Given the description of an element on the screen output the (x, y) to click on. 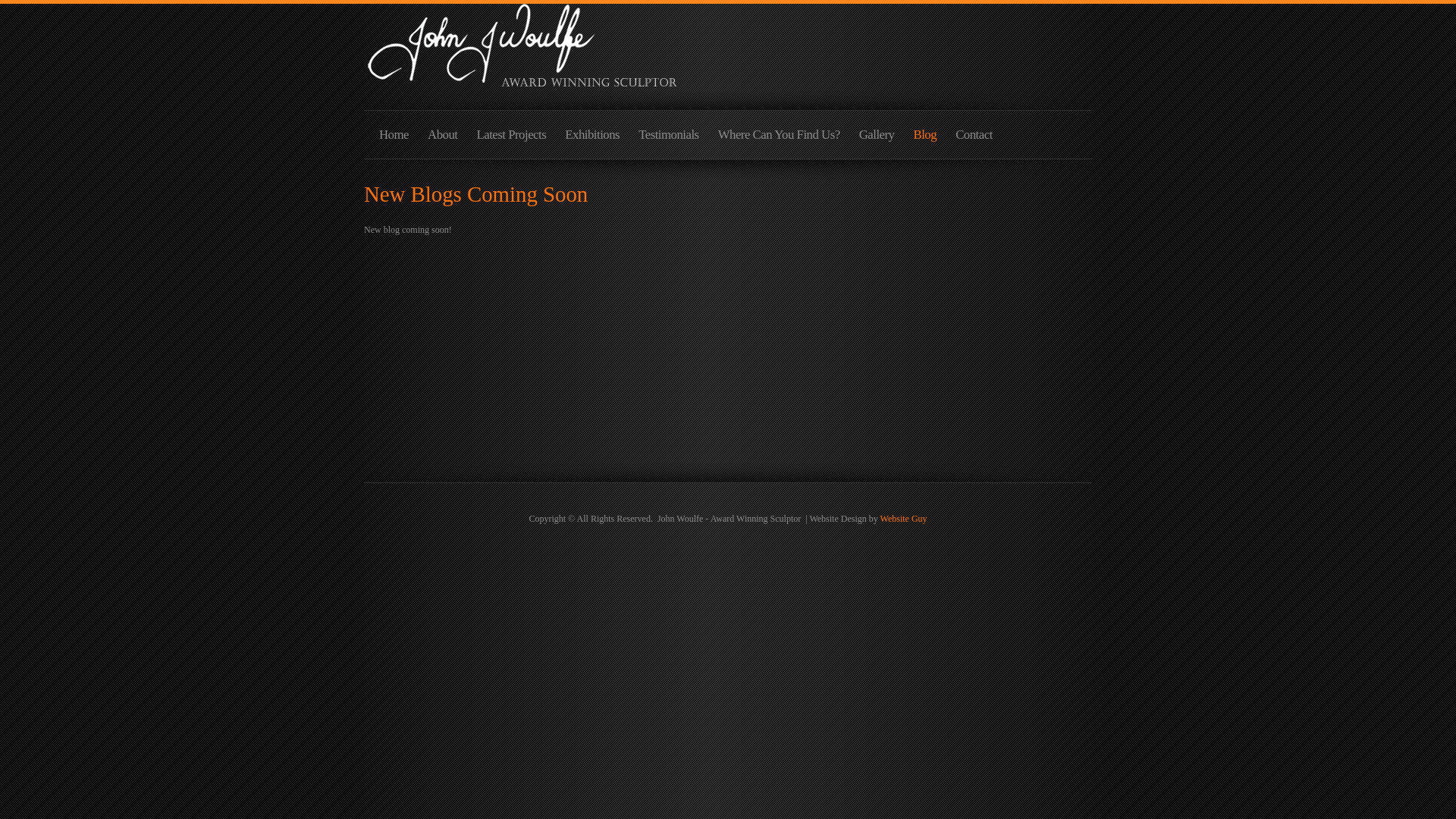
Contact Element type: text (973, 138)
Testimonials Element type: text (668, 138)
Exhibitions Element type: text (592, 138)
Gallery Element type: text (876, 138)
Home Element type: text (393, 138)
Where Can You Find Us? Element type: text (778, 138)
Blog Element type: text (924, 138)
About Element type: text (442, 138)
Latest Projects Element type: text (510, 138)
Website Guy Element type: text (903, 518)
